Given the description of an element on the screen output the (x, y) to click on. 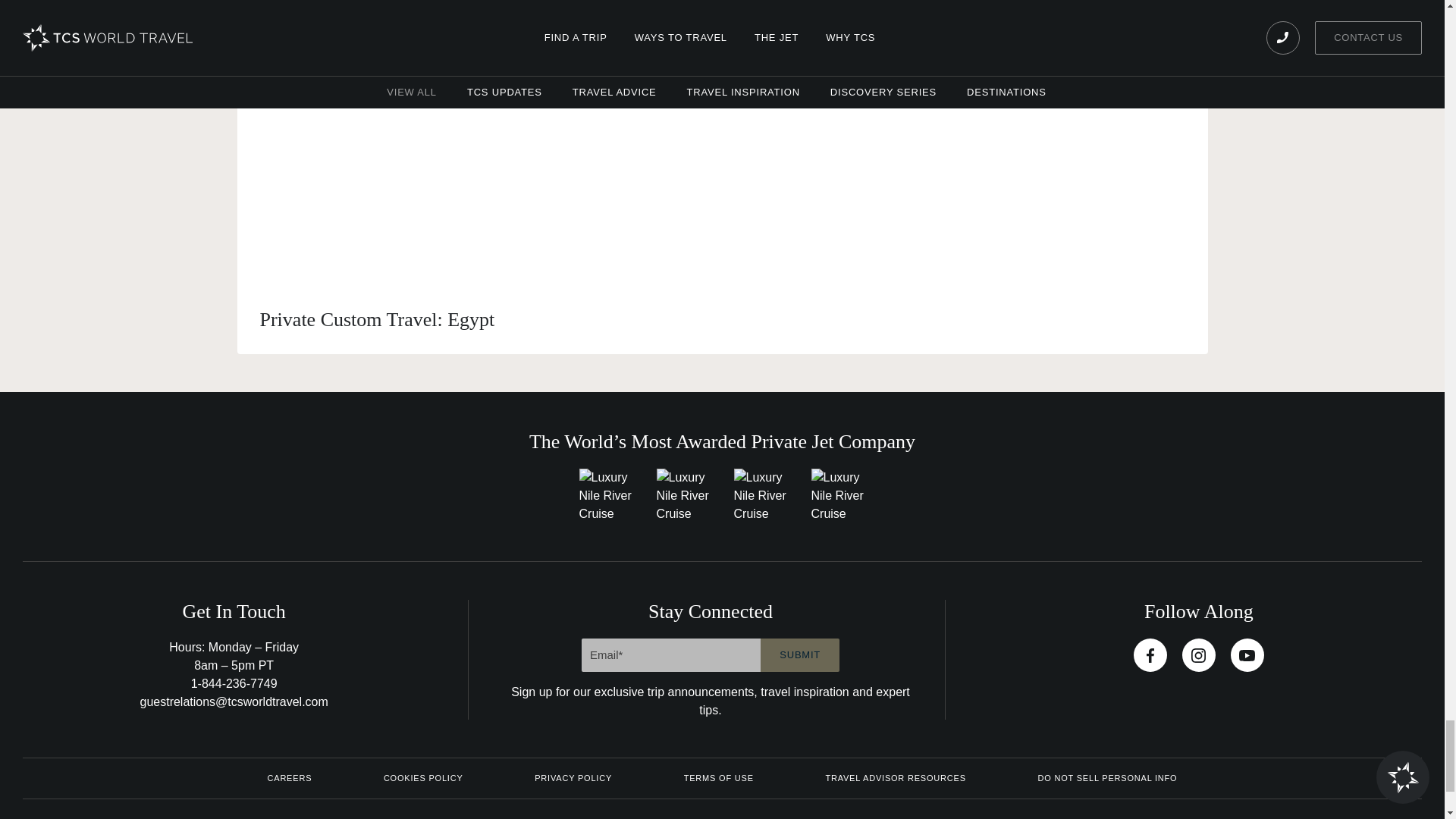
instagram (1198, 654)
youtube (1246, 654)
facebook (1150, 654)
